Given the description of an element on the screen output the (x, y) to click on. 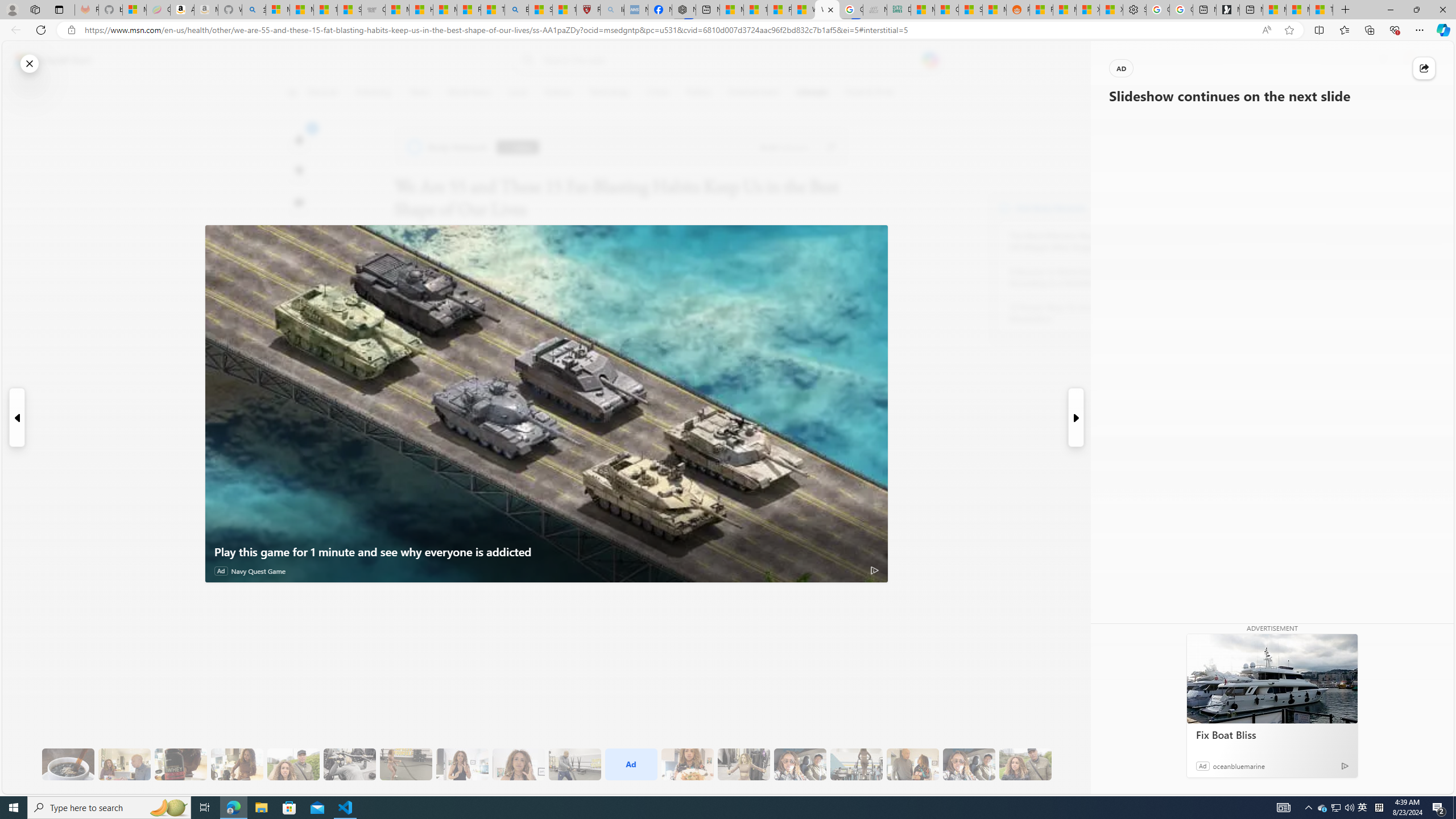
Navy Quest Game (258, 570)
These 3 Stocks Pay You More Than 5% to Own Them (1321, 9)
15 They Also Indulge in a Low-Calorie Sweet Treat (743, 764)
Class: at-item immersive (1423, 68)
14 They Have Salmon and Veggies for Dinner (687, 764)
Body Network (449, 147)
